Given the description of an element on the screen output the (x, y) to click on. 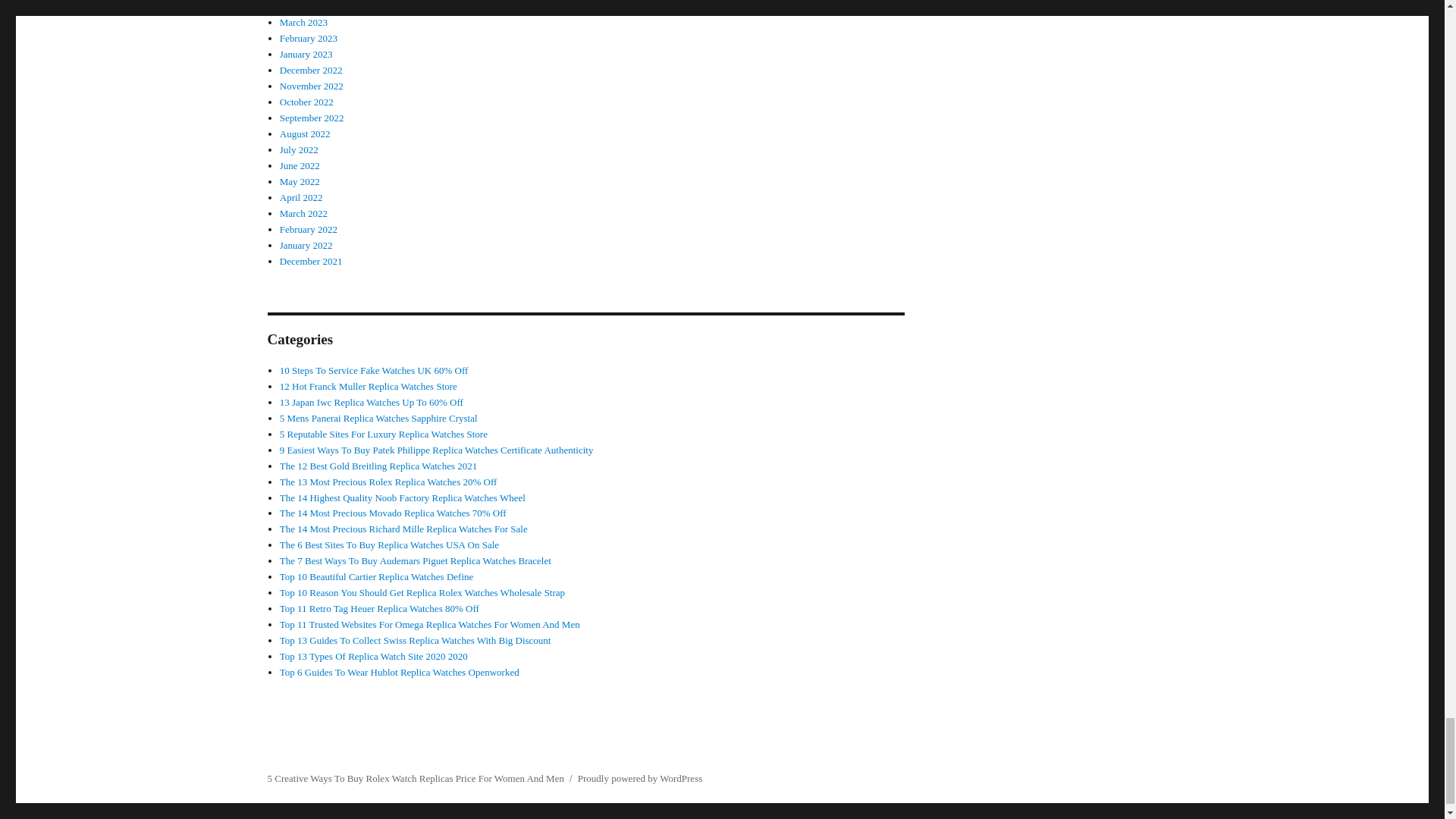
December 2022 (310, 70)
April 2023 (301, 6)
February 2023 (308, 38)
March 2023 (303, 21)
November 2022 (311, 85)
January 2023 (306, 53)
